Given the description of an element on the screen output the (x, y) to click on. 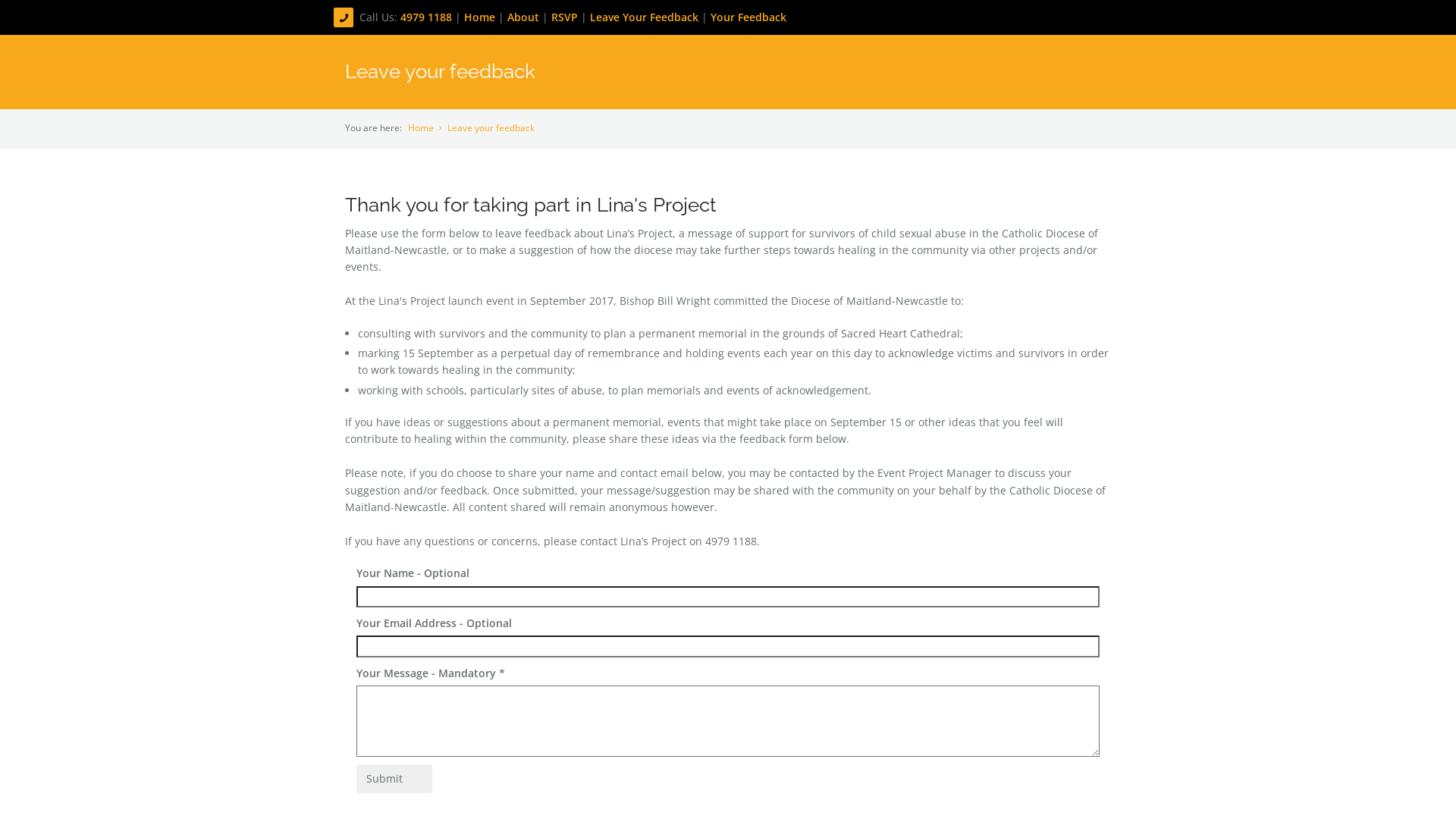
4979 1188 Element type: text (427, 17)
Your Feedback Element type: text (748, 17)
Leave your feedback Element type: text (490, 127)
Submit Element type: text (394, 778)
Leave Your Feedback Element type: text (643, 17)
Home Element type: text (420, 127)
About Element type: text (524, 17)
Home Element type: text (481, 17)
RSVP Element type: text (564, 17)
